Given the description of an element on the screen output the (x, y) to click on. 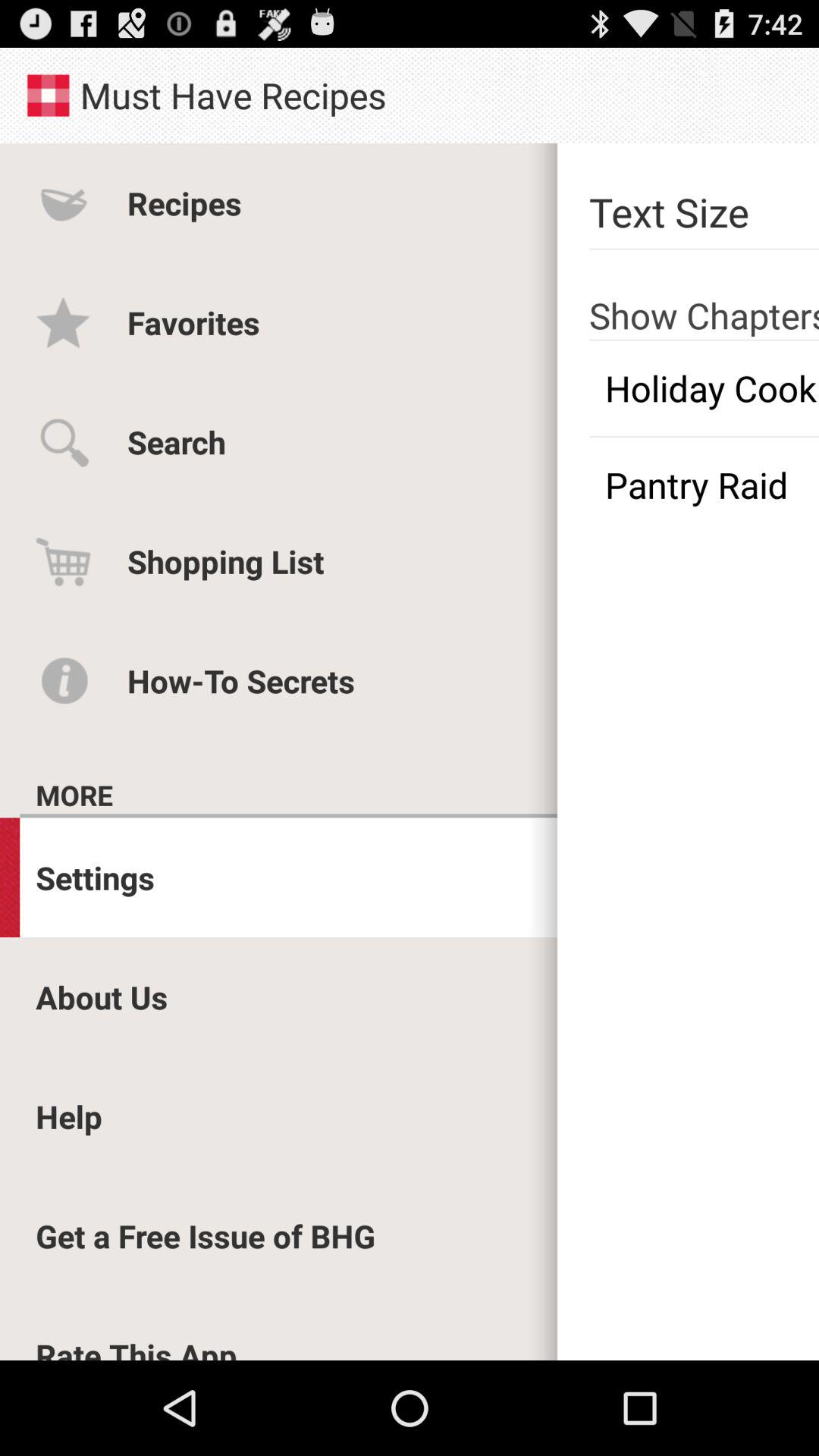
choose the checkbox to the left of the holiday cooking (176, 441)
